Given the description of an element on the screen output the (x, y) to click on. 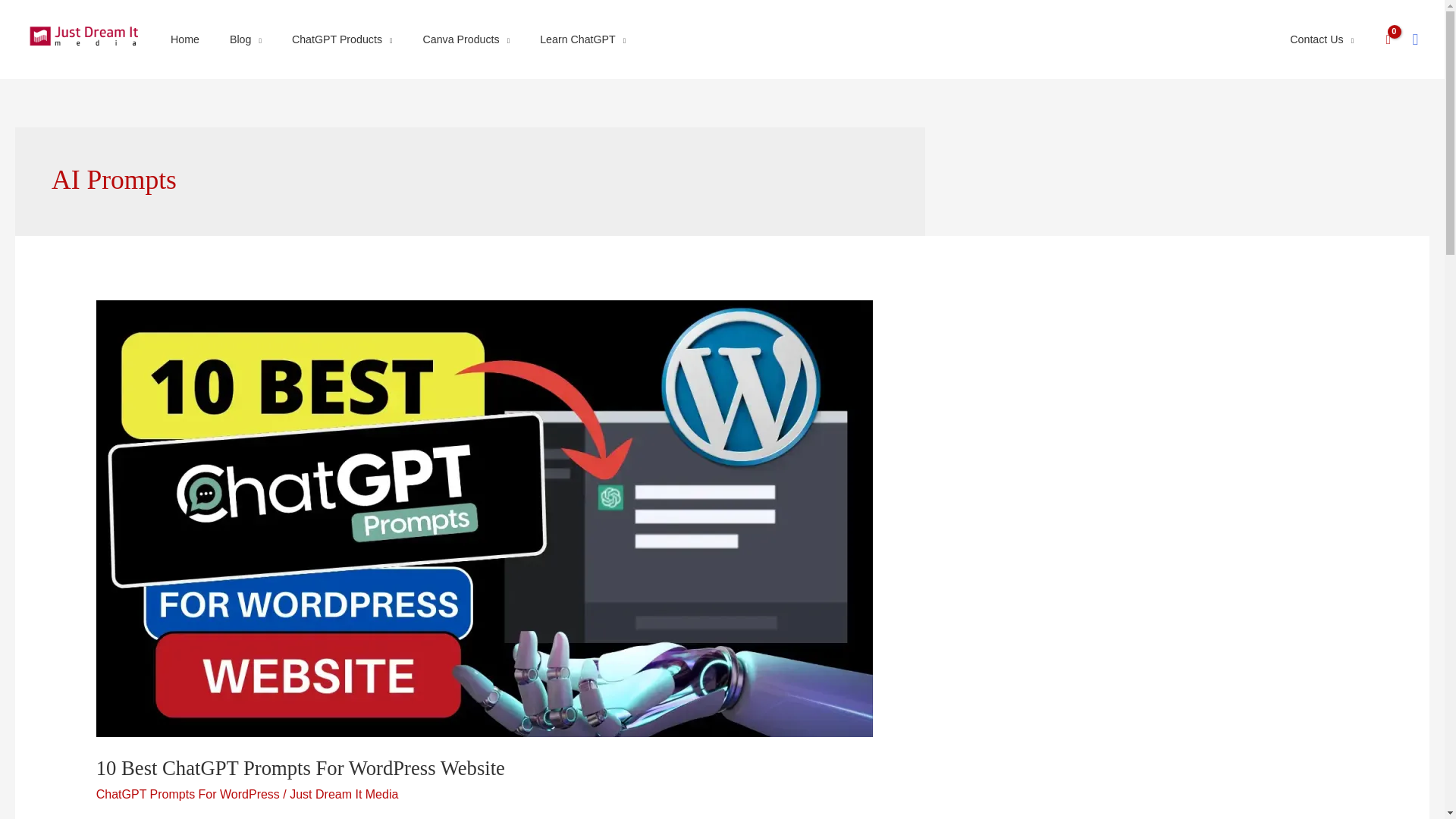
Home (184, 39)
ChatGPT Products (341, 39)
Contact Us (1321, 39)
Canva Products (466, 39)
Blog (245, 39)
Learn ChatGPT (582, 39)
View all posts by Just Dream It Media (343, 793)
